Given the description of an element on the screen output the (x, y) to click on. 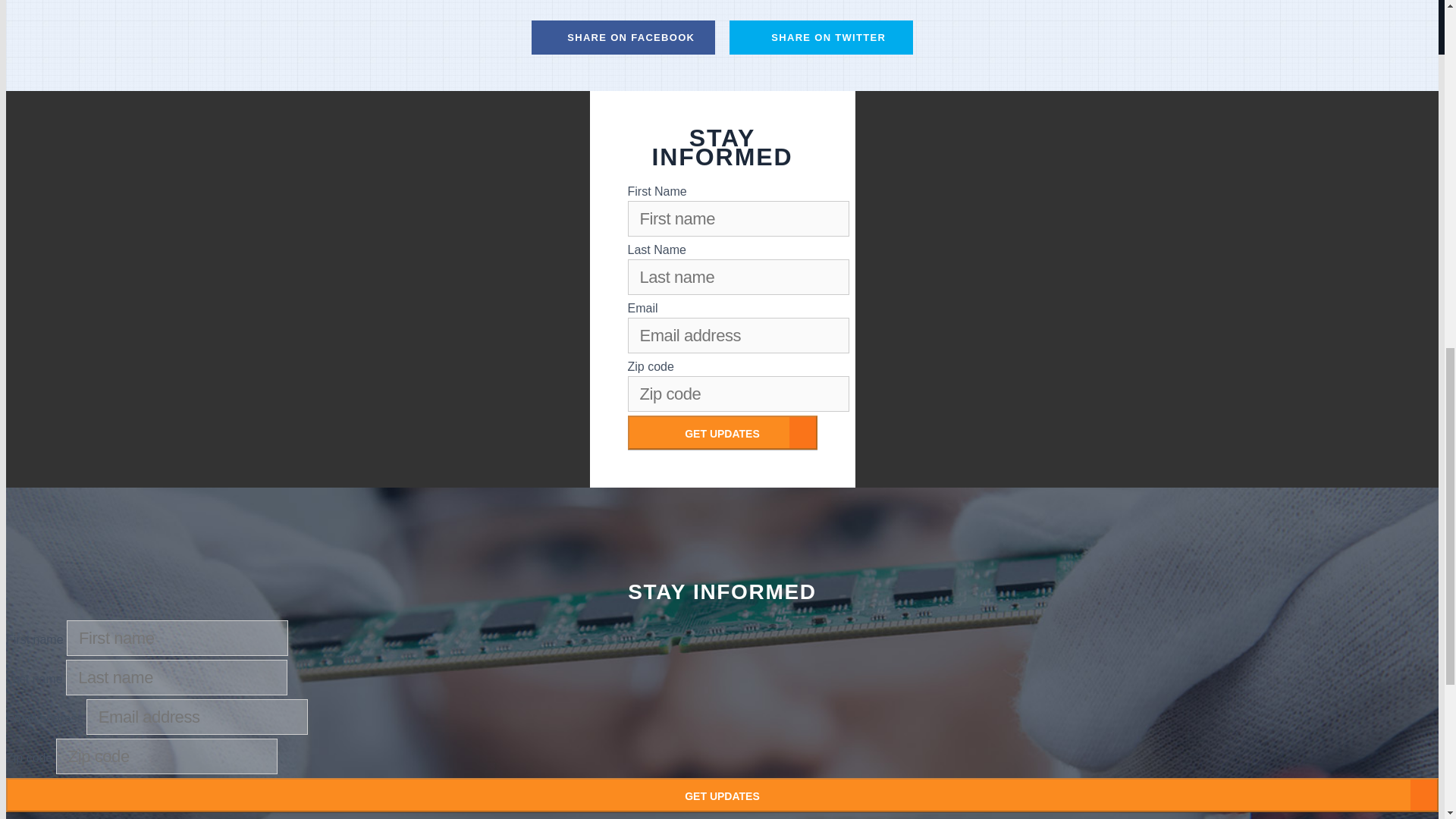
SHARE ON TWITTER (820, 37)
GET UPDATES (721, 432)
SHARE ON FACEBOOK (622, 37)
